Given the description of an element on the screen output the (x, y) to click on. 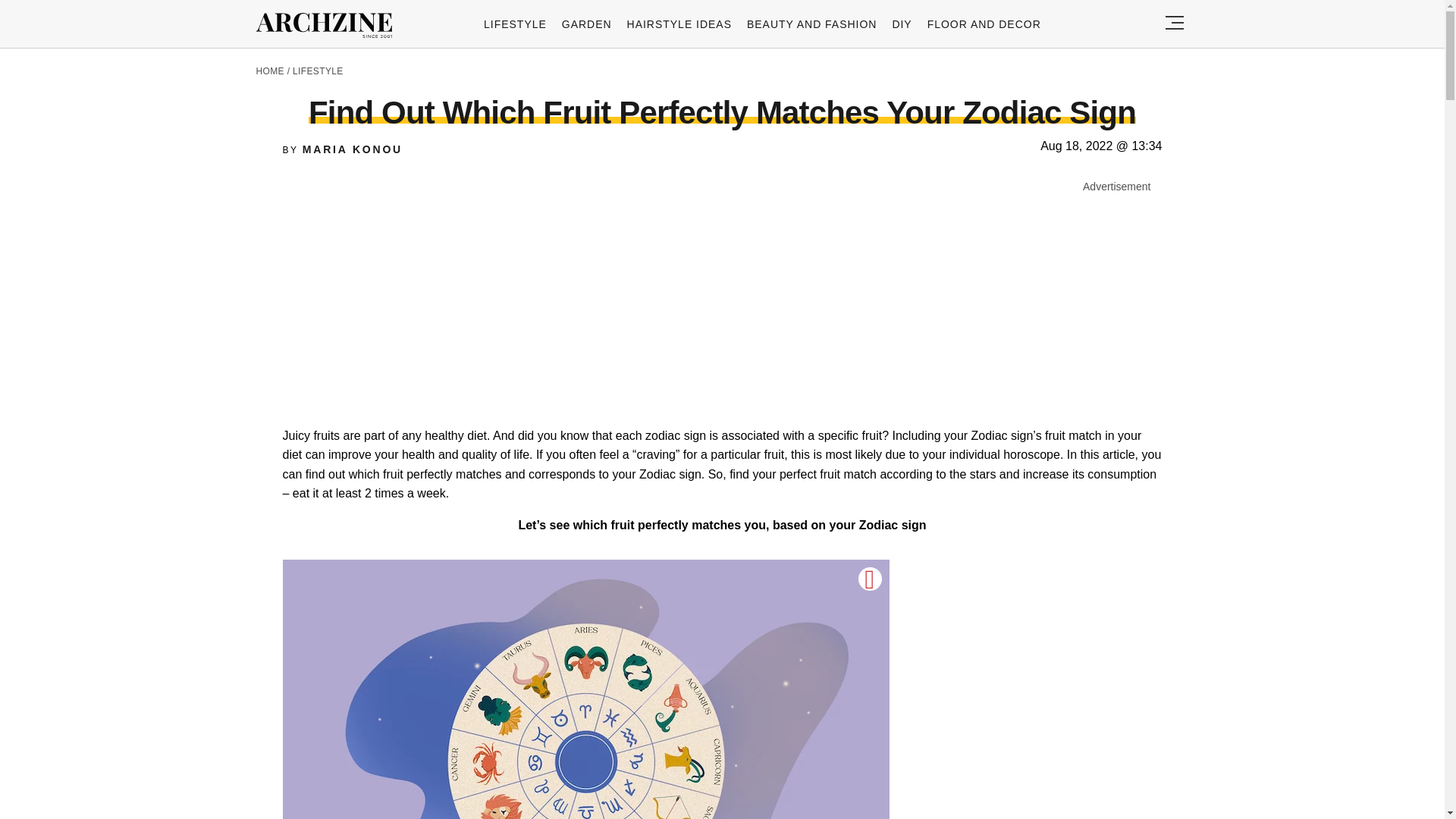
GARDEN (586, 24)
MARIA KONOU (352, 149)
LIFESTYLE (515, 24)
DIY (901, 24)
FLOOR AND DECOR (984, 24)
Archziner.com (328, 25)
Archziner.com (328, 25)
LIFESTYLE (317, 71)
BEAUTY AND FASHION (811, 24)
